Given the description of an element on the screen output the (x, y) to click on. 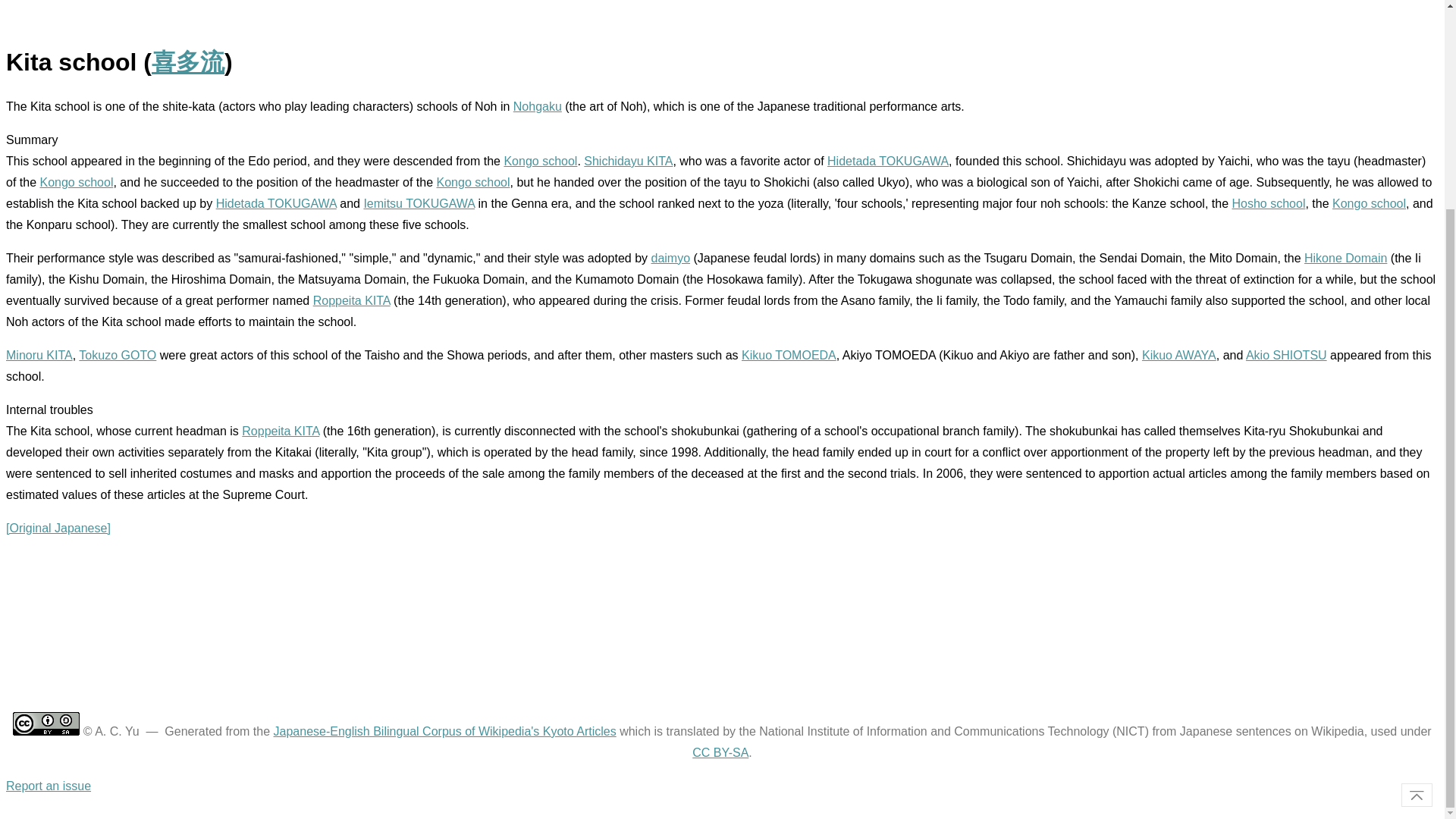
Hidetada TOKUGAWA (275, 203)
Shichidayu KITA (627, 160)
Hikone Domain (1345, 257)
Hosho school (1267, 203)
Kikuo TOMOEDA (788, 354)
Roppeita KITA (351, 300)
Kongo school (539, 160)
Iemitsu TOKUGAWA (418, 203)
Minoru KITA (38, 354)
daimyo (670, 257)
Kongo school (76, 182)
Nohgaku (537, 106)
Hidetada TOKUGAWA (888, 160)
Tokuzo GOTO (116, 354)
Kongo school (473, 182)
